Given the description of an element on the screen output the (x, y) to click on. 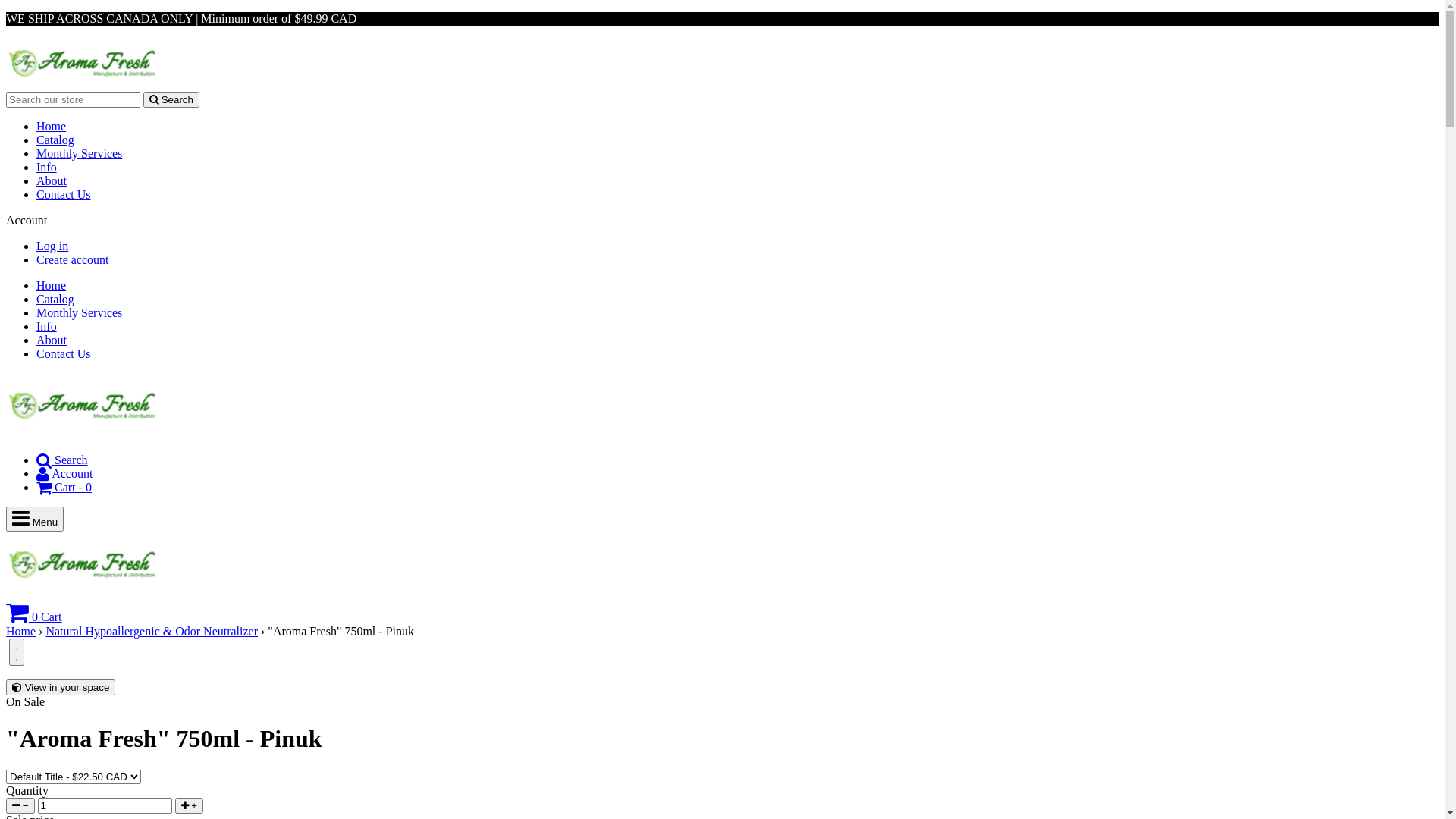
Log in Element type: text (52, 245)
0 Cart Element type: text (34, 616)
Monthly Services Element type: text (79, 312)
Home Element type: text (50, 285)
Create account Element type: text (72, 259)
Home Element type: text (20, 630)
Home Element type: text (50, 125)
Contact Us Element type: text (63, 353)
Catalog Element type: text (55, 139)
Natural Hypoallergenic & Odor Neutralizer Element type: text (151, 630)
View in your space Element type: text (60, 687)
Info Element type: text (46, 326)
Monthly Services Element type: text (79, 153)
Catalog Element type: text (55, 298)
Contact Us Element type: text (63, 194)
Cart - 0 Element type: text (63, 486)
About Element type: text (51, 339)
Menu Element type: text (34, 518)
Account Element type: text (64, 473)
Search Element type: text (61, 459)
+ Element type: text (188, 805)
Search Element type: text (171, 99)
Info Element type: text (46, 166)
About Element type: text (51, 180)
